Given the description of an element on the screen output the (x, y) to click on. 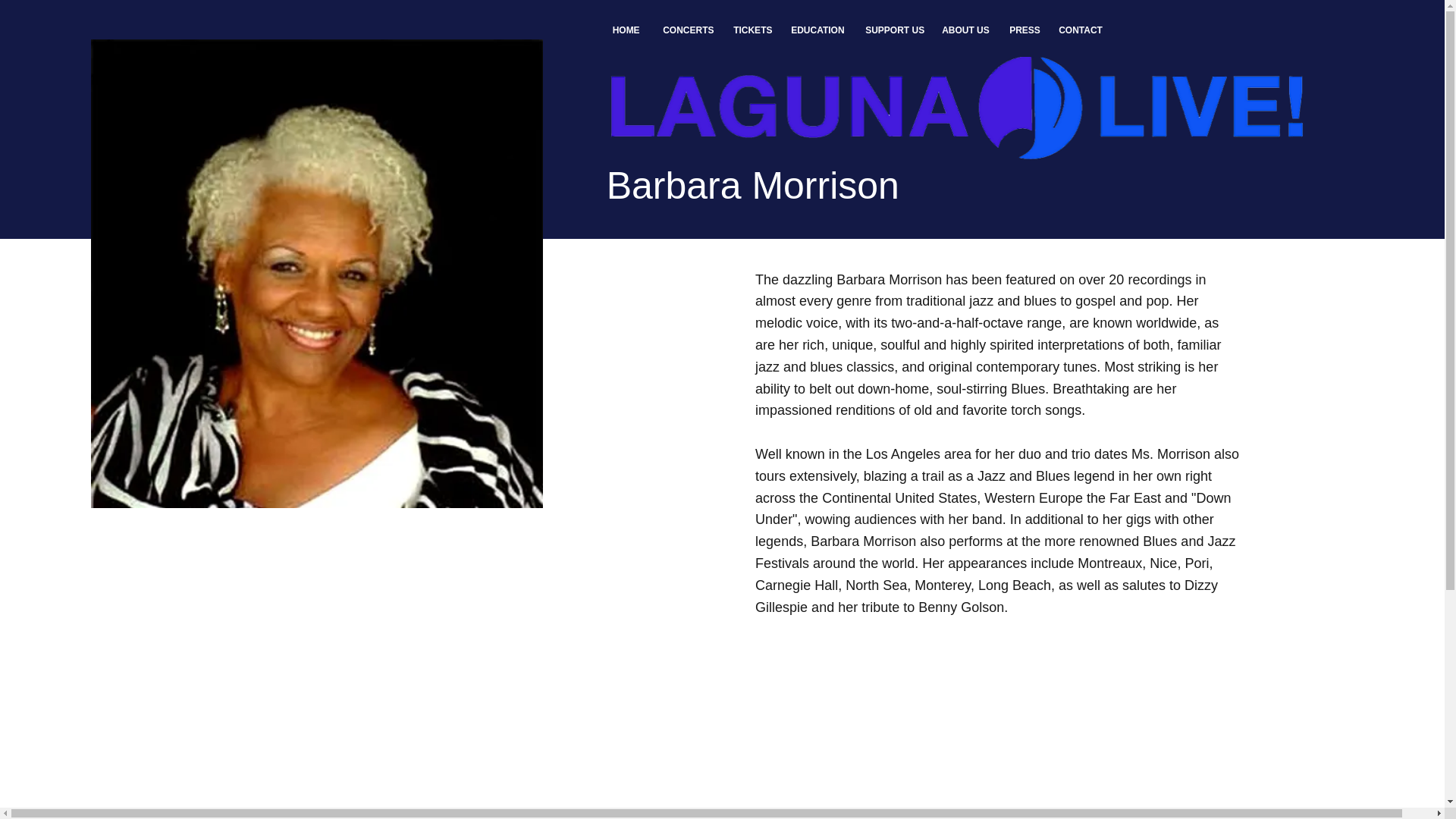
SUPPORT US (891, 30)
TICKETS (750, 30)
ABOUT US (963, 30)
HOME (624, 30)
PRESS (1021, 30)
CONTACT (1079, 30)
